Given the description of an element on the screen output the (x, y) to click on. 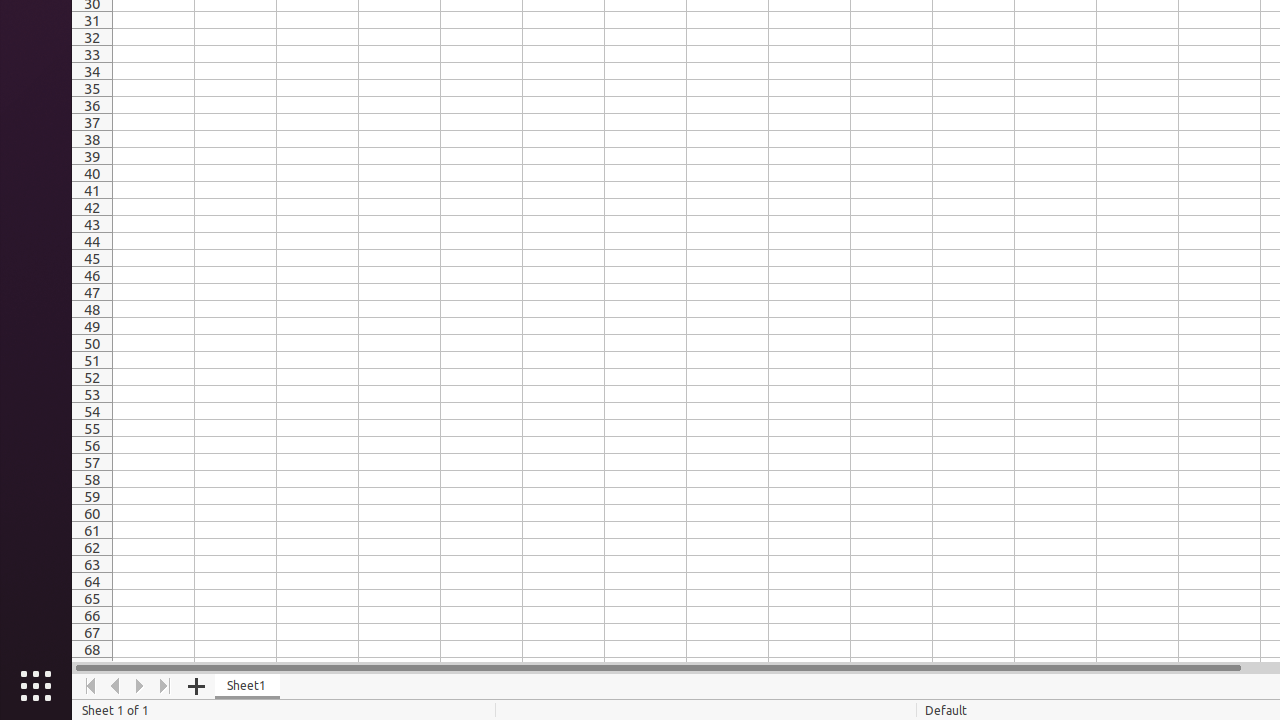
Move Right Element type: push-button (140, 686)
Move To End Element type: push-button (165, 686)
Move To Home Element type: push-button (90, 686)
Sheet1 Element type: page-tab (247, 686)
